Given the description of an element on the screen output the (x, y) to click on. 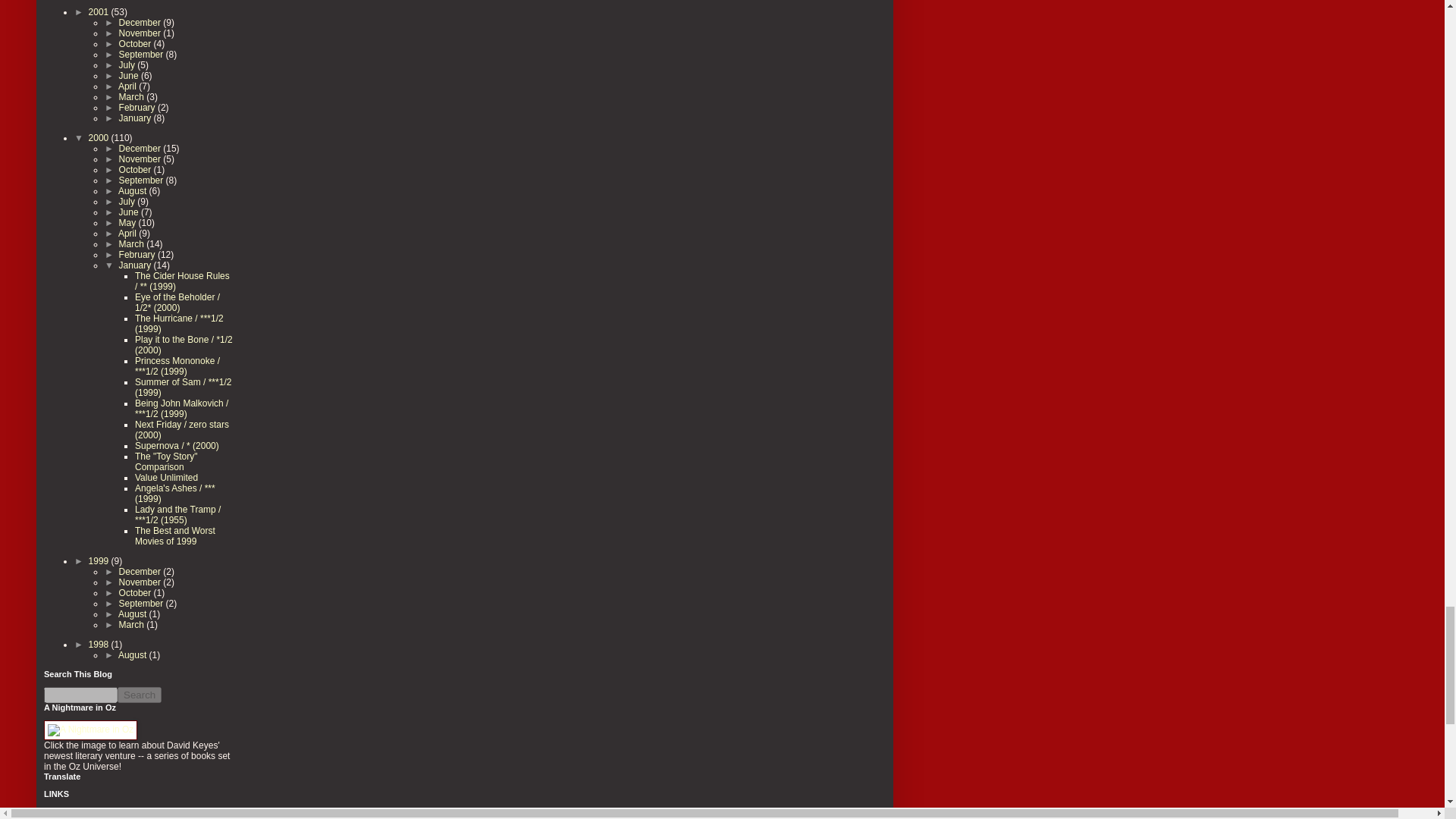
Search (139, 694)
search (139, 694)
Search (139, 694)
search (80, 694)
